Given the description of an element on the screen output the (x, y) to click on. 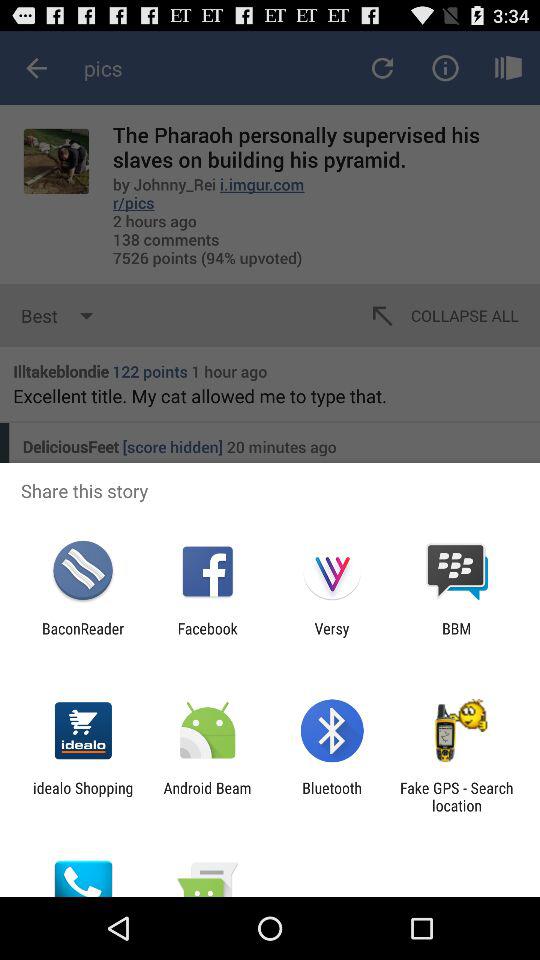
turn off app to the right of the versy icon (456, 637)
